Given the description of an element on the screen output the (x, y) to click on. 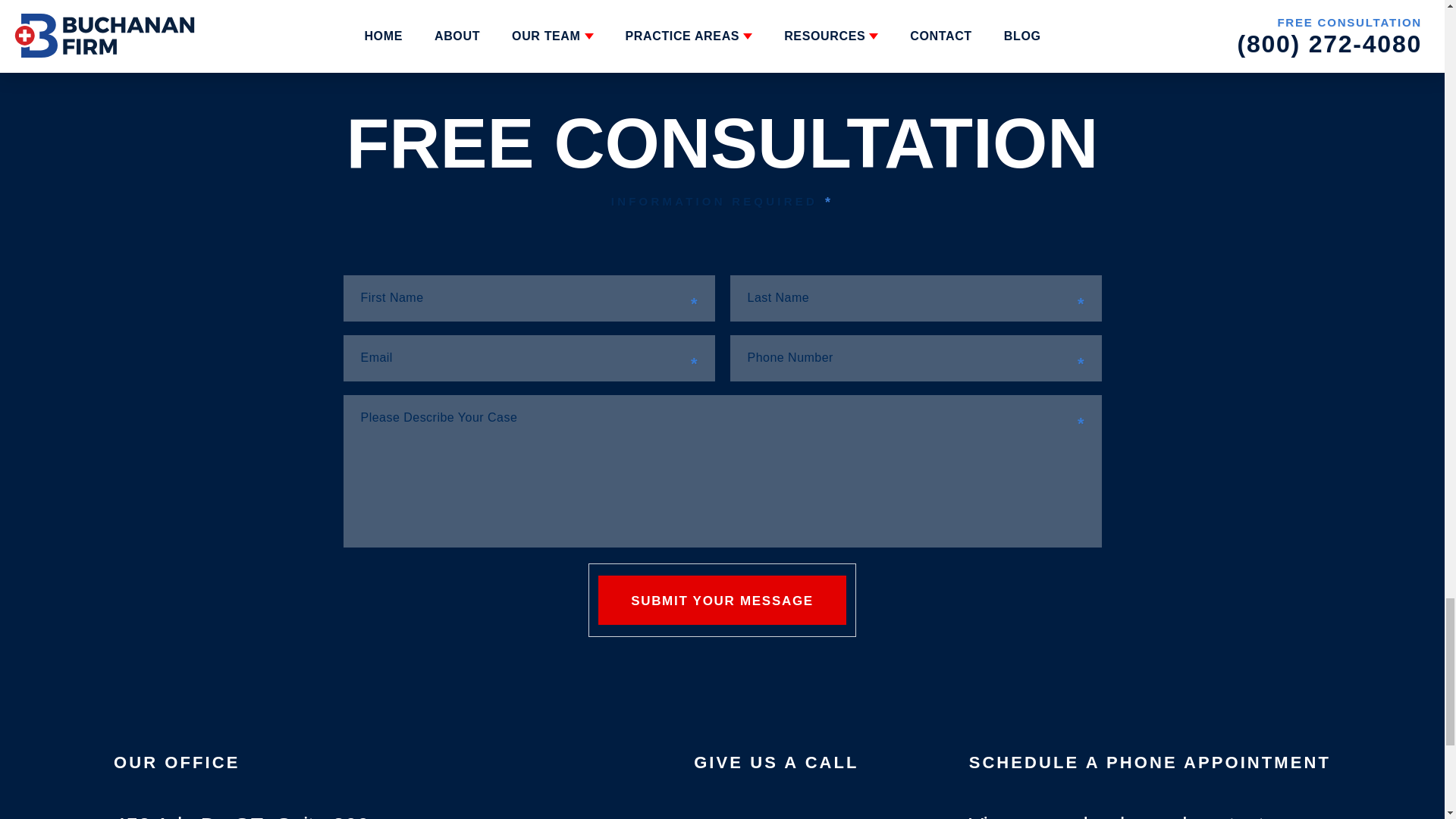
Submit Your Message (722, 600)
